Given the description of an element on the screen output the (x, y) to click on. 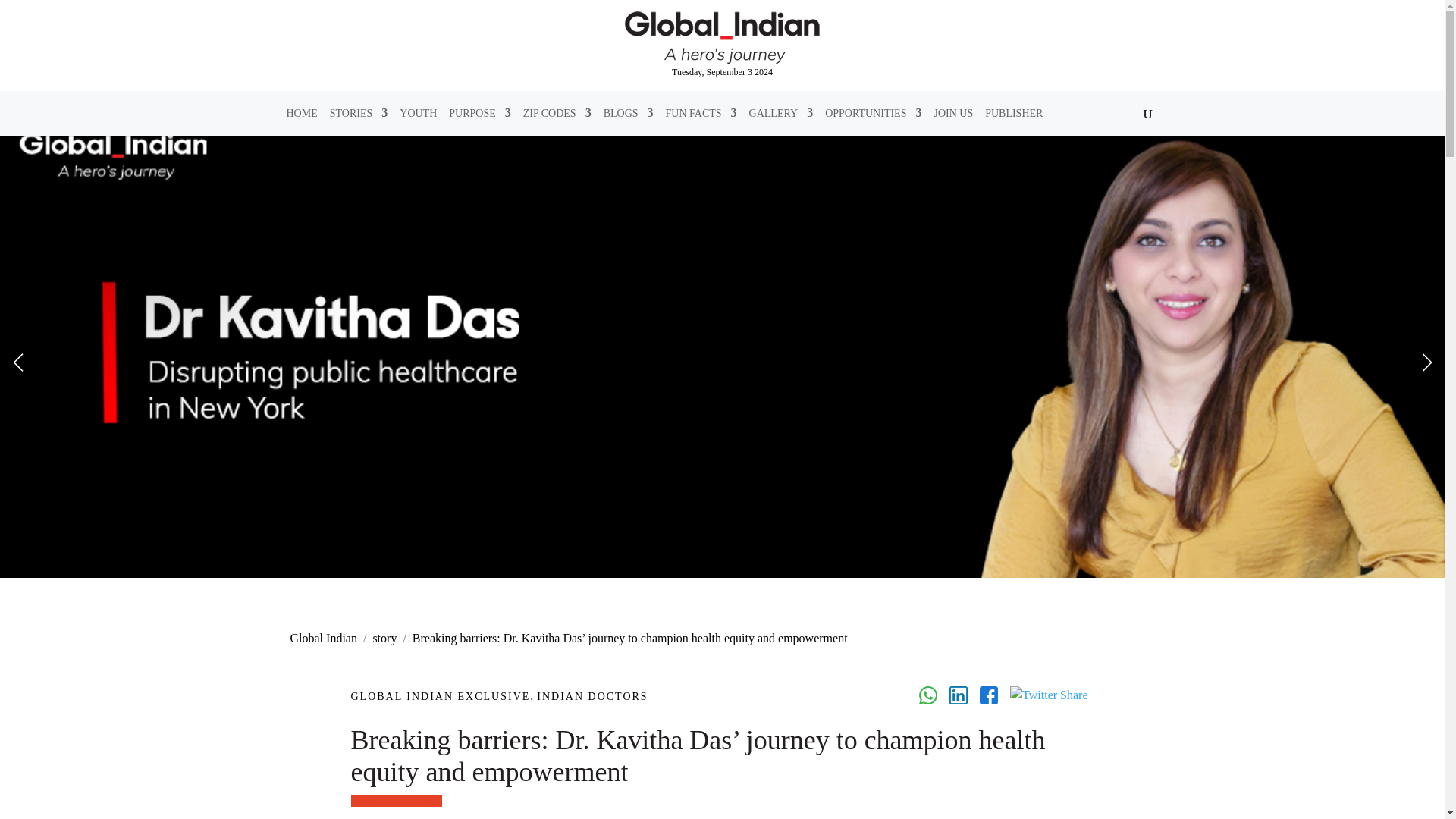
FUN FACTS (700, 112)
Go to Global Indian. (322, 637)
INDIAN DOCTORS (592, 696)
PUBLISHER (1013, 112)
GALLERY (781, 112)
GLOBAL INDIAN EXCLUSIVE (439, 696)
OPPORTUNITIES (873, 112)
BLOGS (628, 112)
ZIP CODES (556, 112)
Global Indian (322, 637)
